Given the description of an element on the screen output the (x, y) to click on. 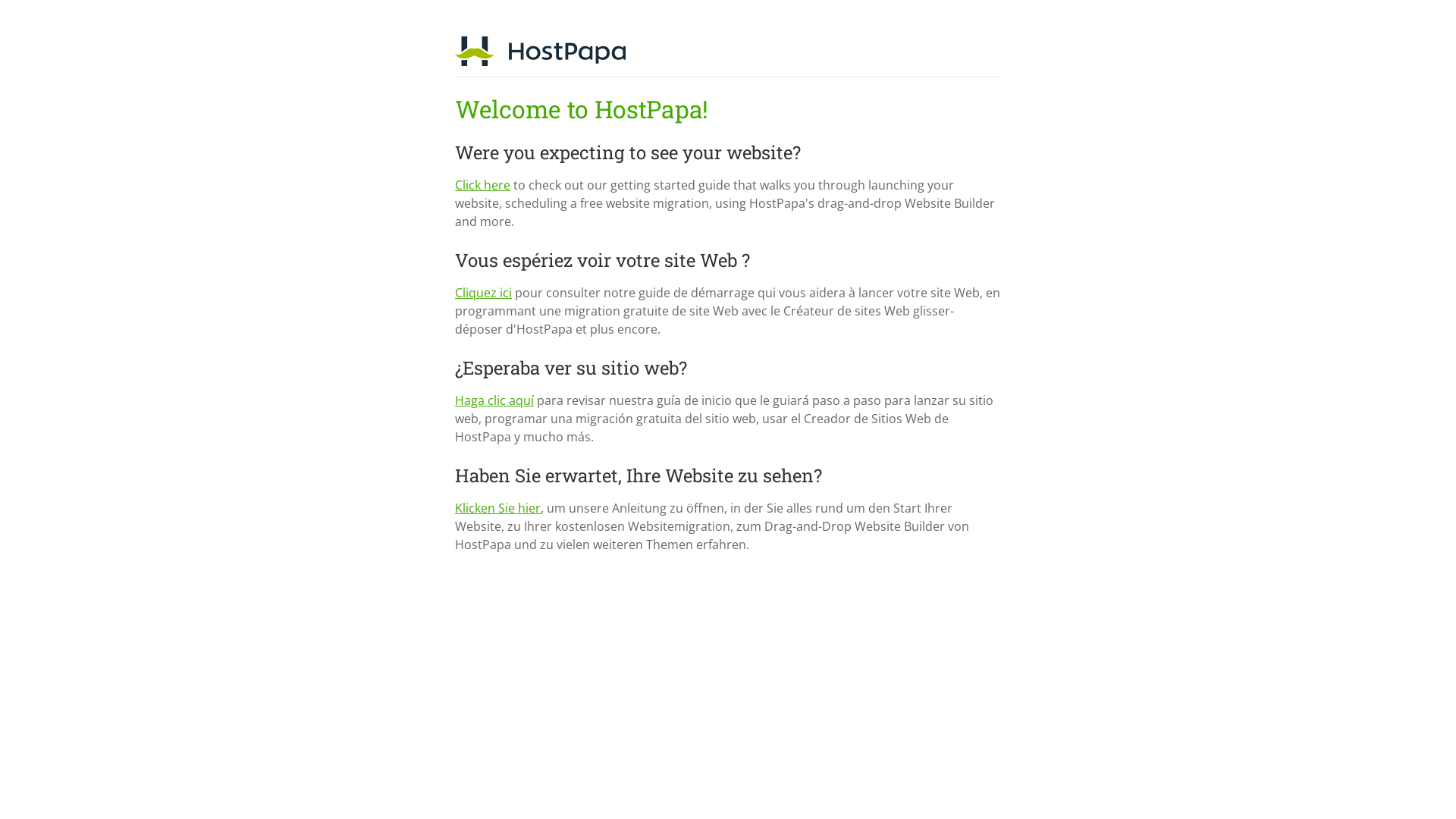
Cliquez ici Element type: text (483, 292)
Click here Element type: text (482, 184)
Klicken Sie hier Element type: text (497, 507)
